Given the description of an element on the screen output the (x, y) to click on. 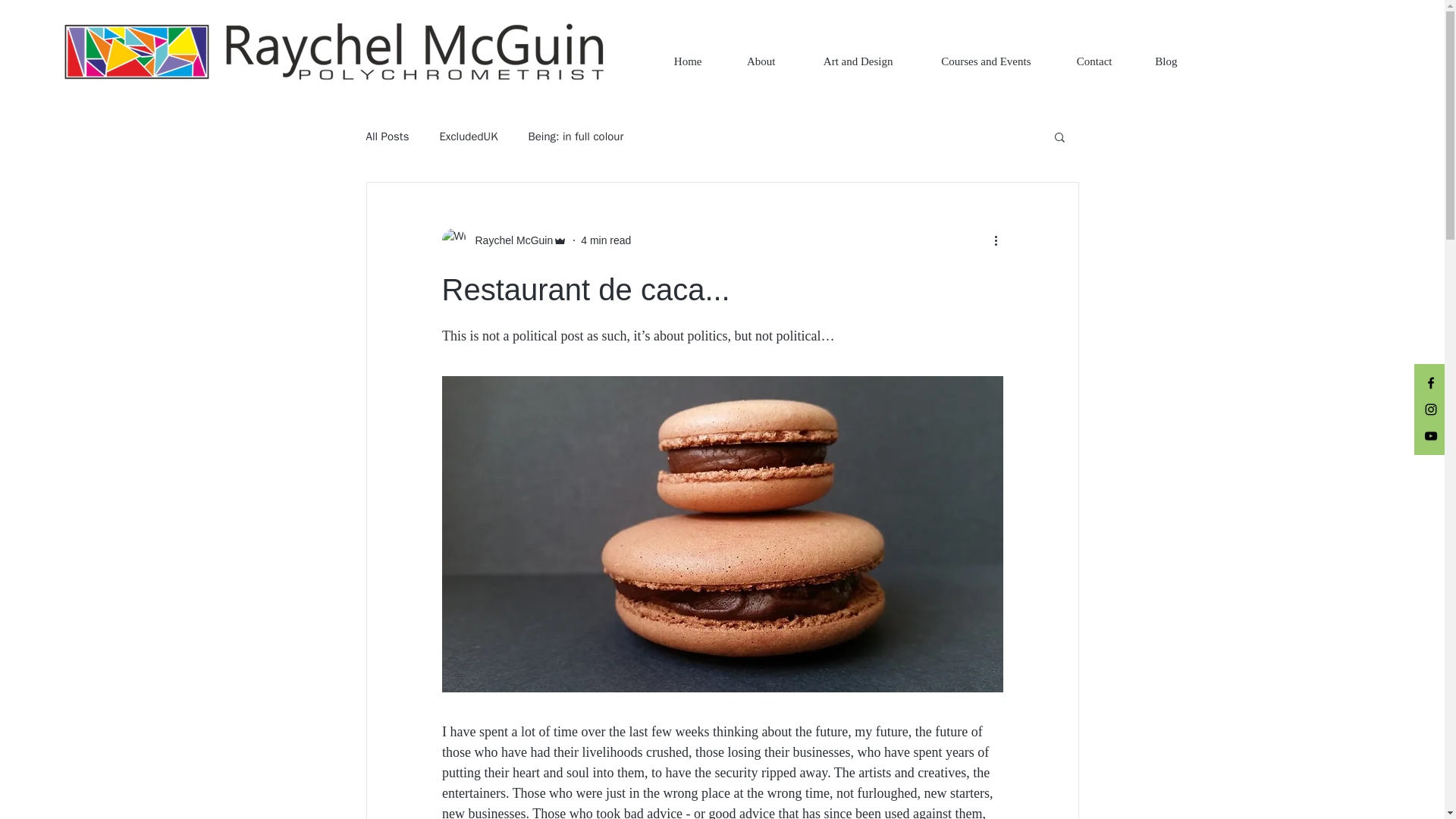
Raychel McGuin (504, 240)
Blog (1156, 61)
Courses and Events (973, 61)
ExcludedUK (468, 135)
Contact (1082, 61)
Raychel McGuin (509, 239)
All Posts (387, 135)
4 min read (605, 239)
Being: in full colour (575, 135)
Home (676, 61)
